Given the description of an element on the screen output the (x, y) to click on. 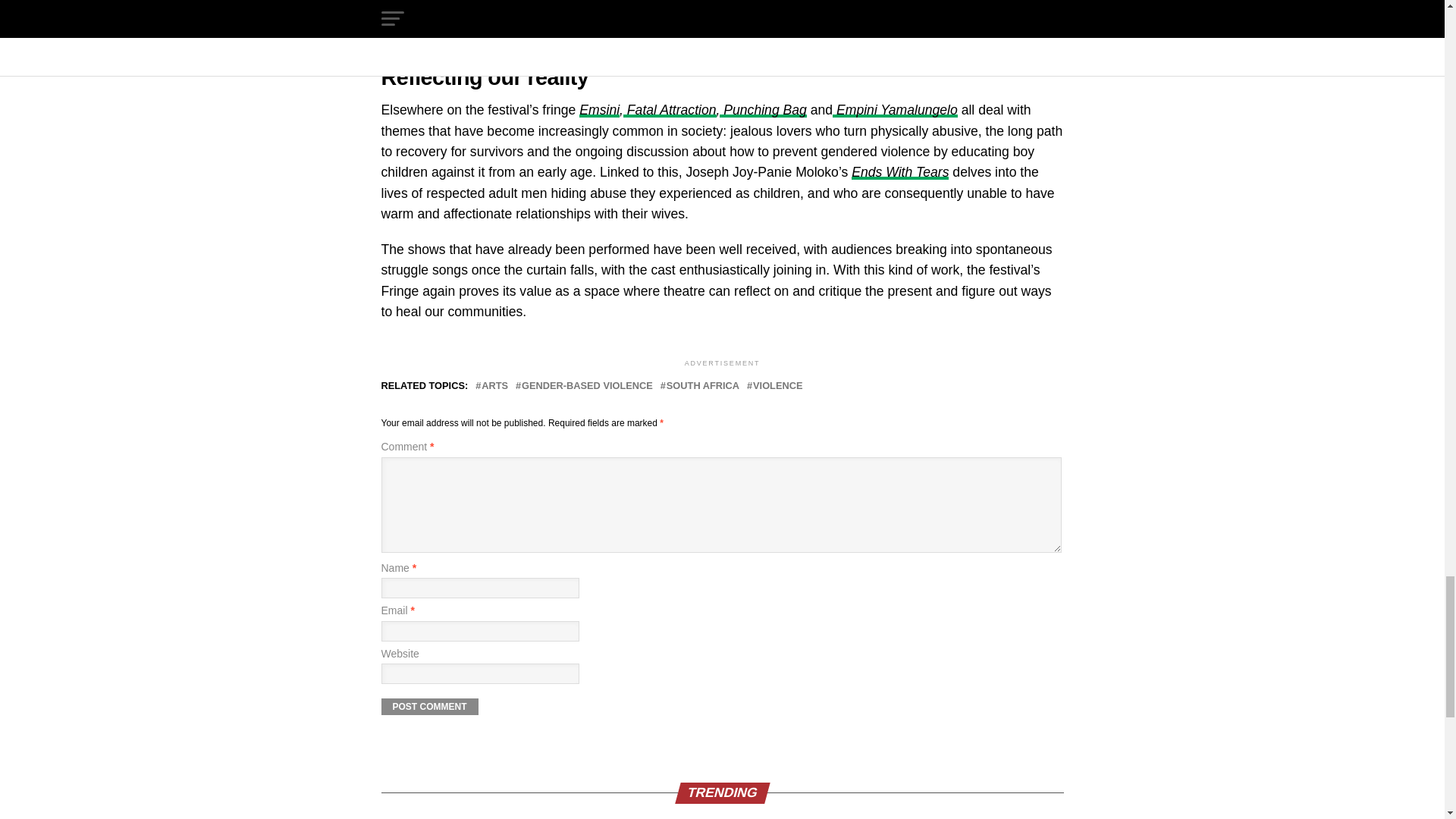
ARTS (494, 386)
Ends With Tears (900, 171)
Fatal Attraction (669, 109)
Emsini (599, 109)
Post Comment (428, 706)
SOUTH AFRICA (702, 386)
Post Comment (428, 706)
Empini Yamalungelo (895, 109)
VIOLENCE (777, 386)
Punching Bag (762, 109)
